Given the description of an element on the screen output the (x, y) to click on. 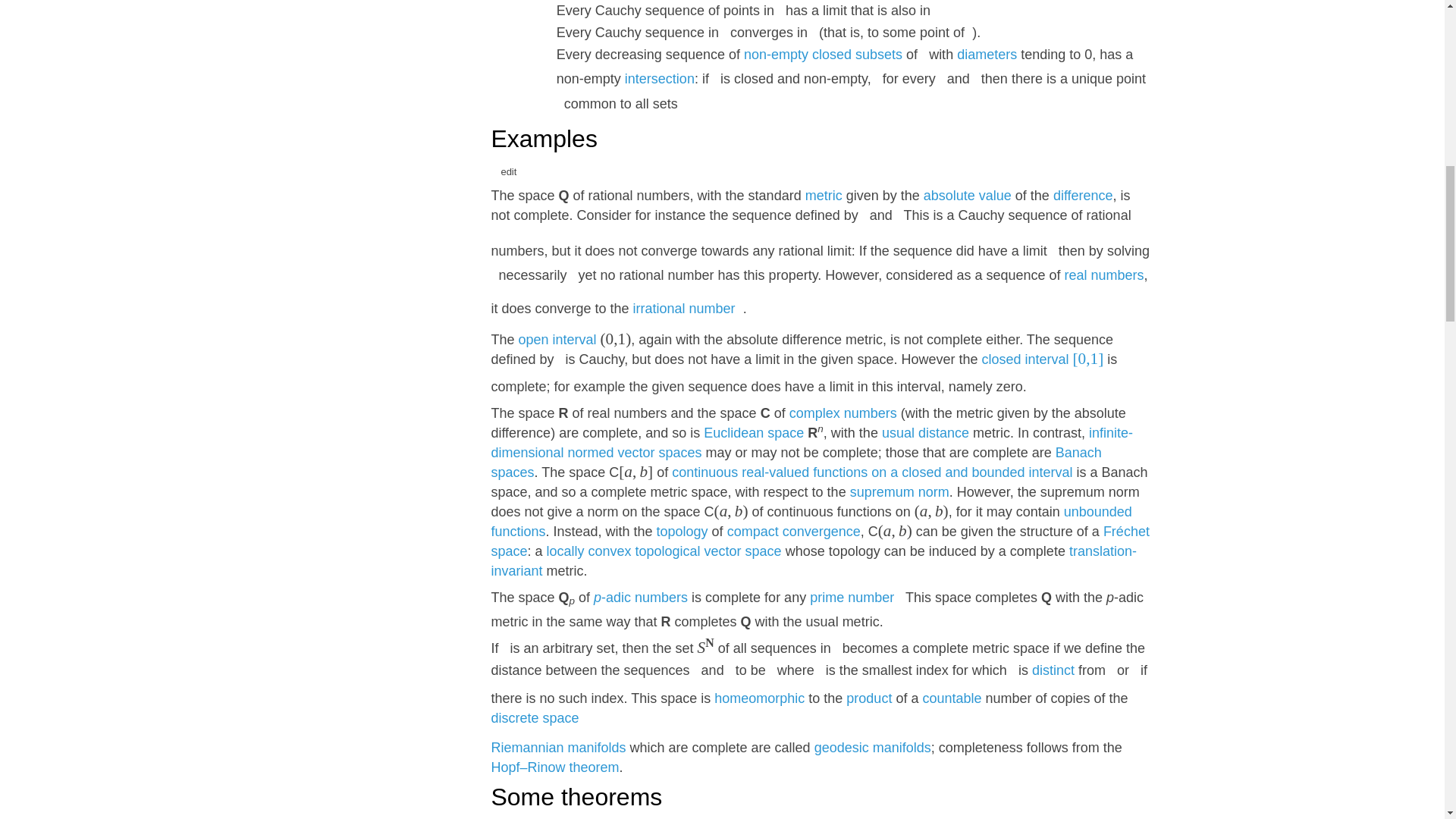
Absolute value (967, 195)
Diameter (986, 54)
Closed subset (857, 54)
Subtraction (1082, 195)
Irrational number (684, 308)
Real number (1104, 274)
Empty set (776, 54)
